Given the description of an element on the screen output the (x, y) to click on. 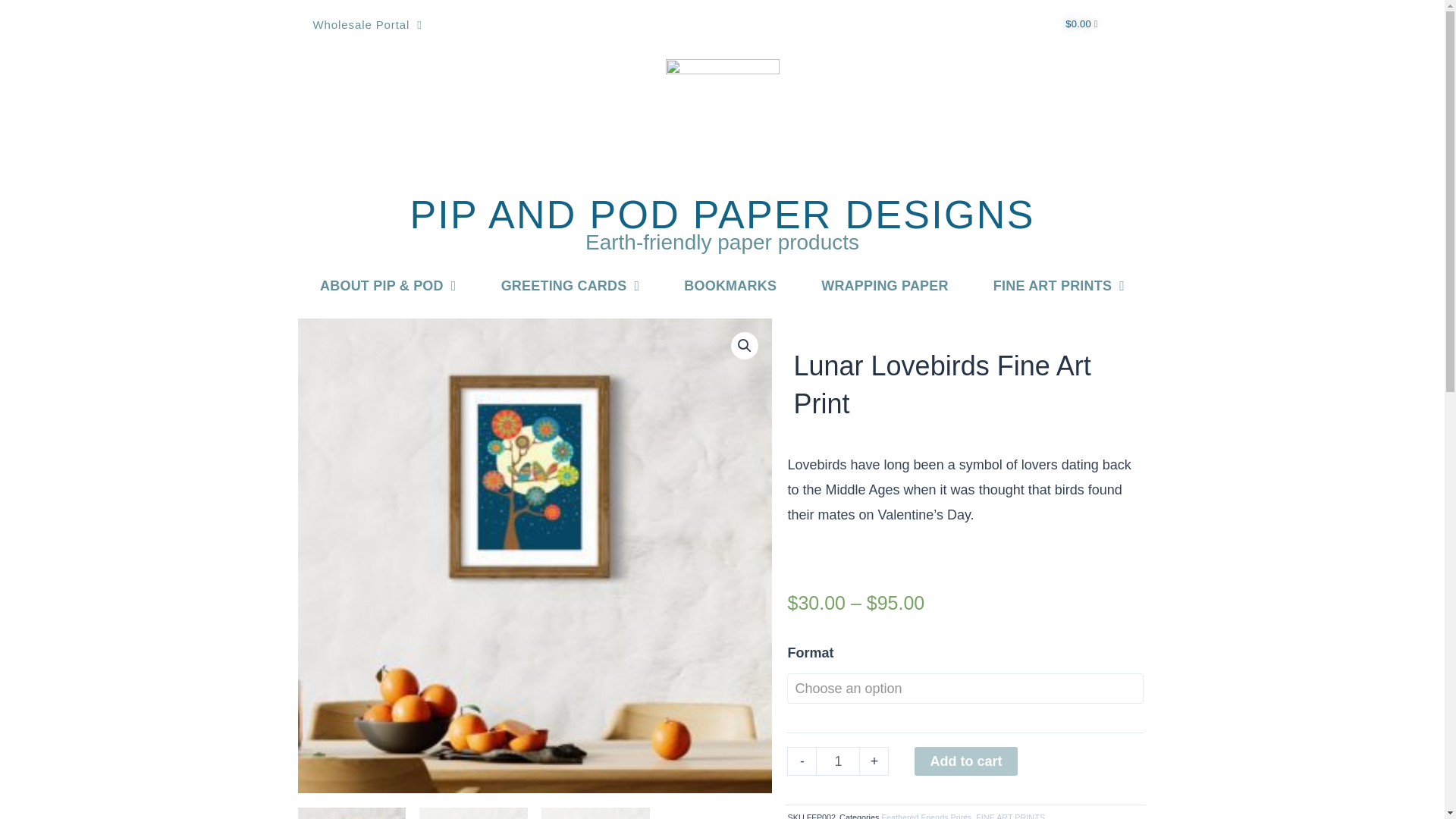
Wholesale Portal (366, 24)
1 (837, 760)
FINE ART PRINTS (1059, 285)
WRAPPING PAPER (885, 285)
GREETING CARDS (570, 285)
PIP AND POD PAPER DESIGNS (721, 214)
BOOKMARKS (730, 285)
